Given the description of an element on the screen output the (x, y) to click on. 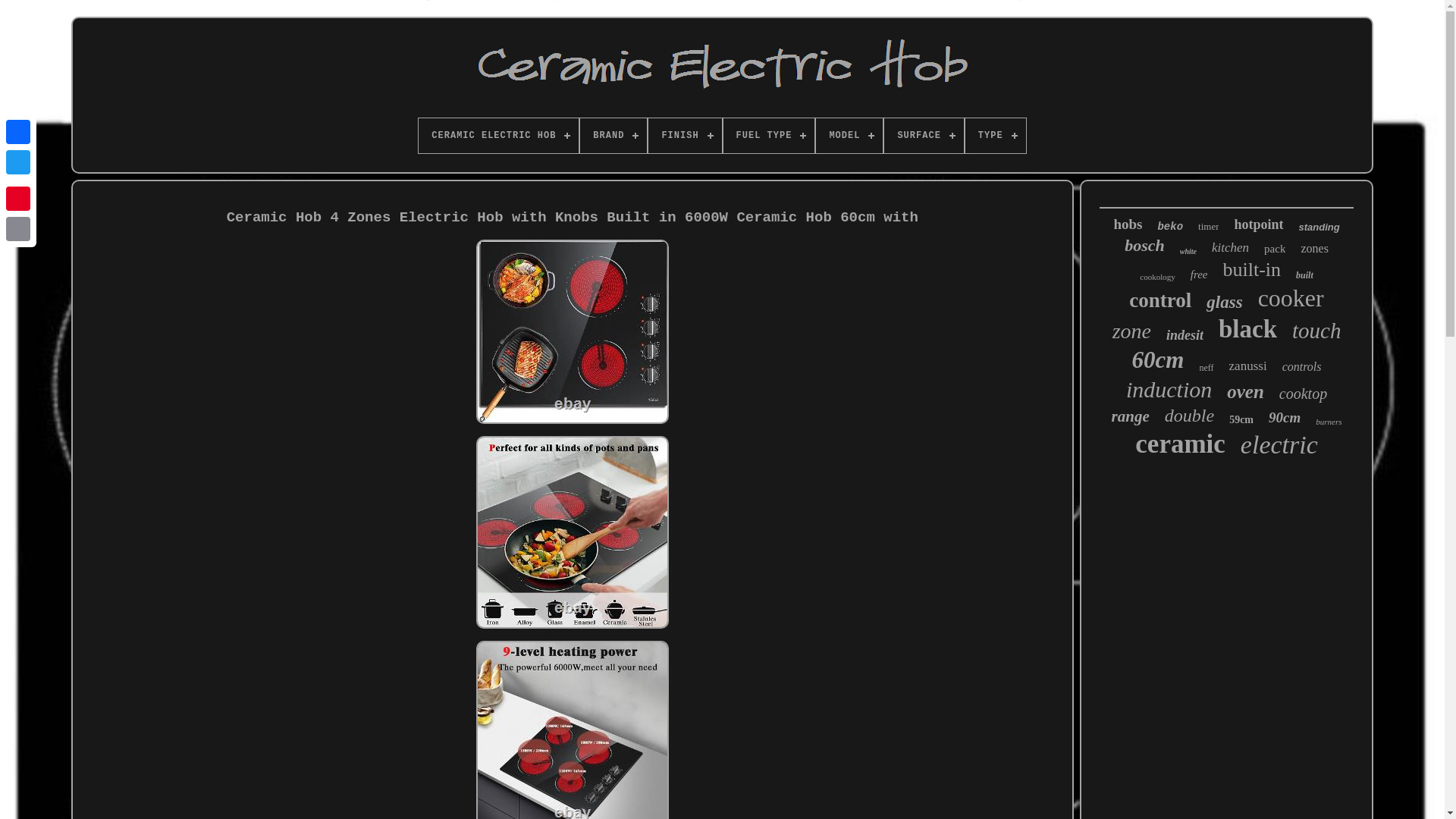
CERAMIC ELECTRIC HOB (498, 135)
BRAND (612, 135)
FINISH (683, 135)
